Given the description of an element on the screen output the (x, y) to click on. 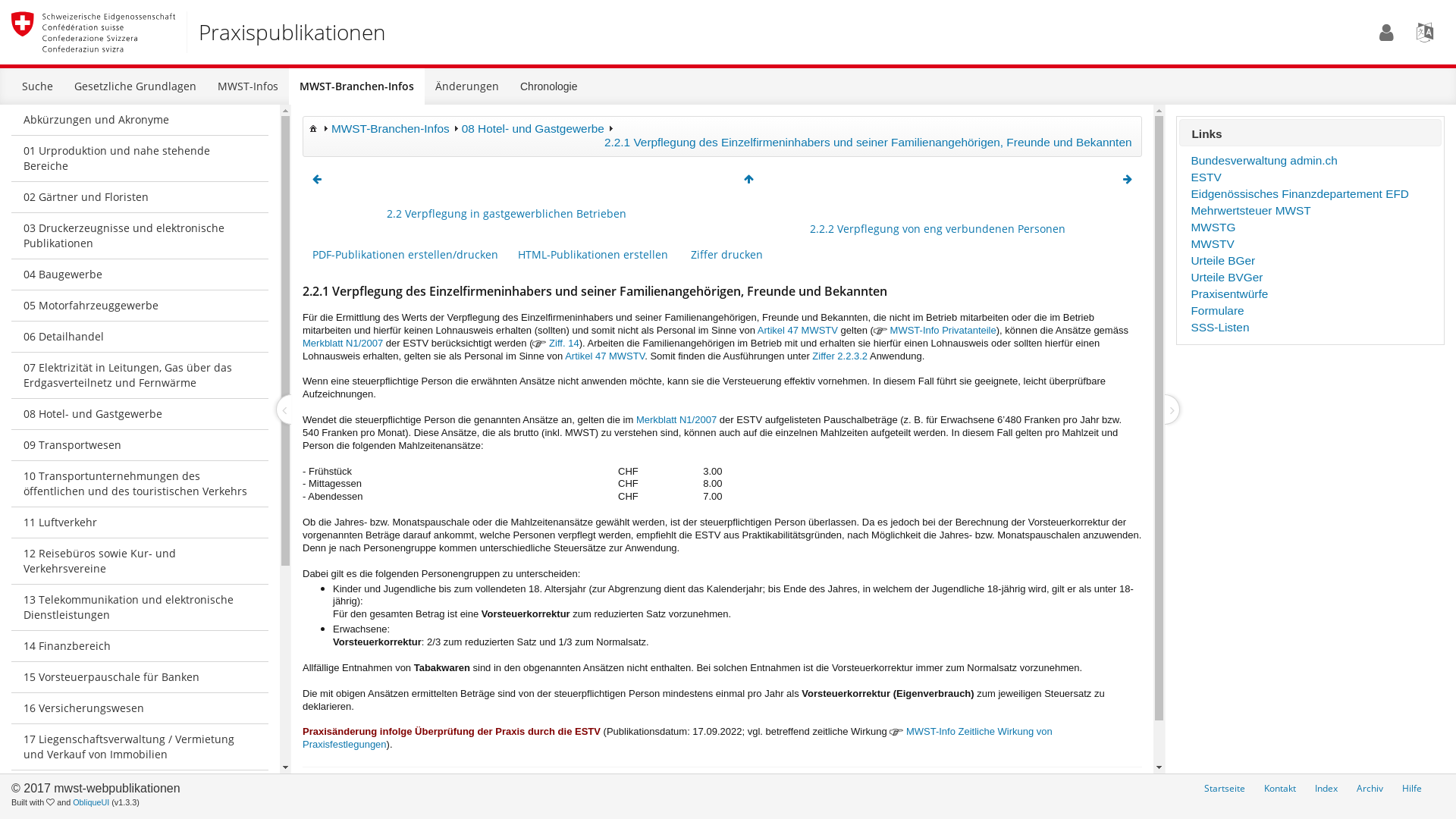
Gesetzliche Grundlagen Element type: text (135, 86)
MWST-Branchen-Infos Element type: text (356, 86)
01 Urproduktion und nahe stehende Bereiche Element type: text (139, 158)
Index Element type: text (1325, 787)
Kontakt Element type: text (1279, 787)
Toggle right column Element type: text (1171, 409)
Merkblatt N1/2007 Element type: text (676, 419)
Bundesverwaltung admin.ch Element type: text (1263, 159)
Merkblatt N1/2007 Element type: text (342, 342)
Formulare Element type: text (1216, 310)
Mehrwertsteuer MWST Element type: text (1250, 209)
Toggle left column Element type: text (283, 409)
ObliqueUI Element type: text (90, 801)
Hilfe Element type: text (1411, 787)
2.2 Verpflegung in gastgewerblichen Betrieben Element type: text (506, 213)
14 Finanzbereich Element type: text (139, 646)
Archiv Element type: text (1369, 787)
04 Baugewerbe Element type: text (139, 274)
Urteile BVGer Element type: text (1226, 276)
13 Telekommunikation und elektronische Dienstleistungen Element type: text (139, 607)
16 Versicherungswesen Element type: text (139, 708)
ESTV Element type: text (1205, 176)
03 Druckerzeugnisse und elektronische Publikationen Element type: text (139, 236)
05 Motorfahrzeuggewerbe Element type: text (139, 305)
08 Hotel- und Gastgewerbe Element type: text (139, 413)
Historie der Ziffer anzeigen Element type: text (659, 790)
MWST-Infos Element type: text (247, 86)
Chronologie Element type: text (548, 86)
SSS-Listen Element type: text (1219, 326)
Ziffer 2.2.3.2 Element type: text (839, 355)
09 Transportwesen Element type: text (139, 445)
08 Hotel- und Gastgewerbe Element type: text (532, 128)
MWSTV Element type: text (1211, 243)
PDF-Publikationen erstellen/drucken Element type: text (405, 254)
2.2.2 Verpflegung von eng verbundenen Personen Element type: text (938, 228)
HTML-Publikationen erstellen Element type: text (592, 254)
MWST-Info Privatanteile Element type: text (943, 329)
MWST-Branchen-Infos Element type: text (390, 128)
MWSTG Element type: text (1212, 226)
Artikel 47 MWSTV Element type: text (797, 329)
Ziffer drucken Element type: text (726, 254)
11 Luftverkehr Element type: text (139, 522)
MWST-Info Zeitliche Wirkung von Praxisfestlegungen Element type: text (677, 737)
06 Detailhandel Element type: text (139, 336)
Startseite Element type: text (1224, 787)
Ziff. 14 Element type: text (564, 342)
Artikel 47 MWSTV Element type: text (604, 355)
Suche Element type: text (37, 86)
Urteile BGer Element type: text (1222, 260)
